Given the description of an element on the screen output the (x, y) to click on. 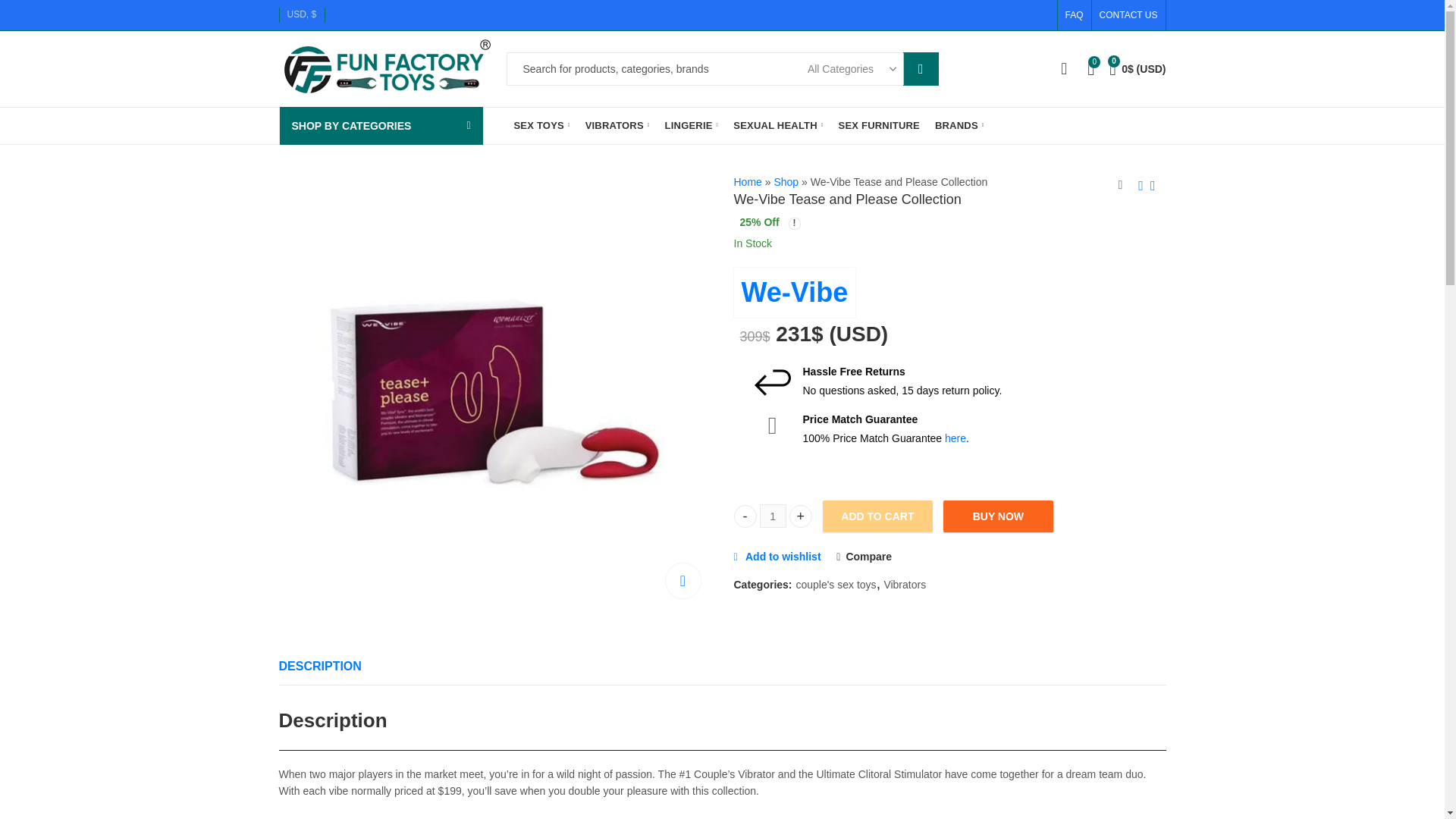
SEARCH (920, 68)
1 (773, 515)
VIBRATORS (618, 125)
CONTACT US (1124, 15)
SEX TOYS (542, 125)
- (745, 516)
